Given the description of an element on the screen output the (x, y) to click on. 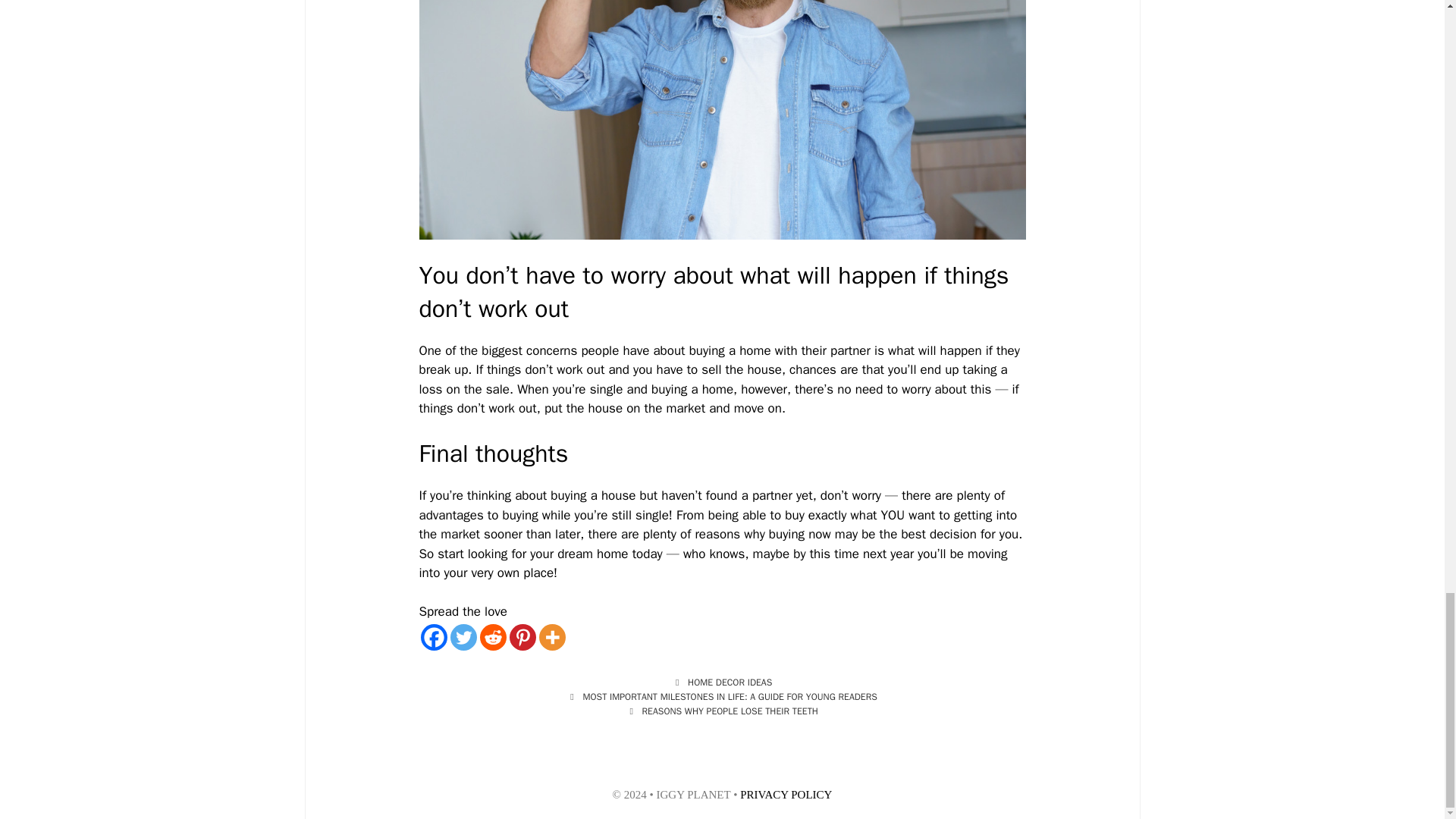
Reddit (492, 637)
More (551, 637)
Pinterest (522, 637)
PRIVACY POLICY (785, 794)
Twitter (463, 637)
MOST IMPORTANT MILESTONES IN LIFE: A GUIDE FOR YOUNG READERS (729, 696)
HOME DECOR IDEAS (729, 682)
REASONS WHY PEOPLE LOSE THEIR TEETH (729, 711)
Facebook (433, 637)
